Given the description of an element on the screen output the (x, y) to click on. 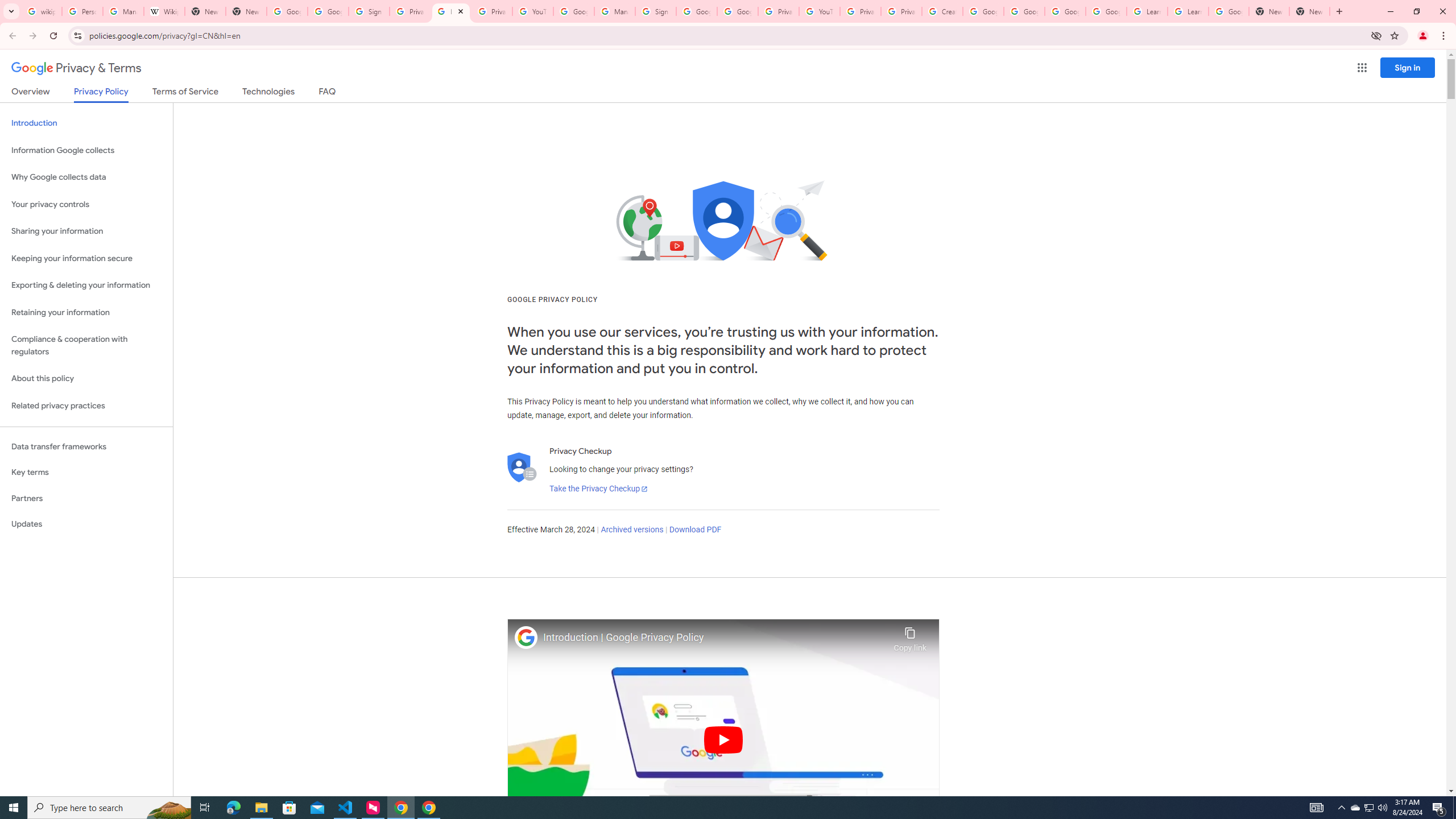
Technologies (268, 93)
Sign in - Google Accounts (655, 11)
Privacy & Terms (76, 68)
Create your Google Account (942, 11)
Sign in - Google Accounts (368, 11)
Updates (86, 524)
Google Account Help (573, 11)
Google Drive: Sign-in (327, 11)
Why Google collects data (86, 176)
Sharing your information (86, 230)
YouTube (818, 11)
Compliance & cooperation with regulators (86, 345)
